Given the description of an element on the screen output the (x, y) to click on. 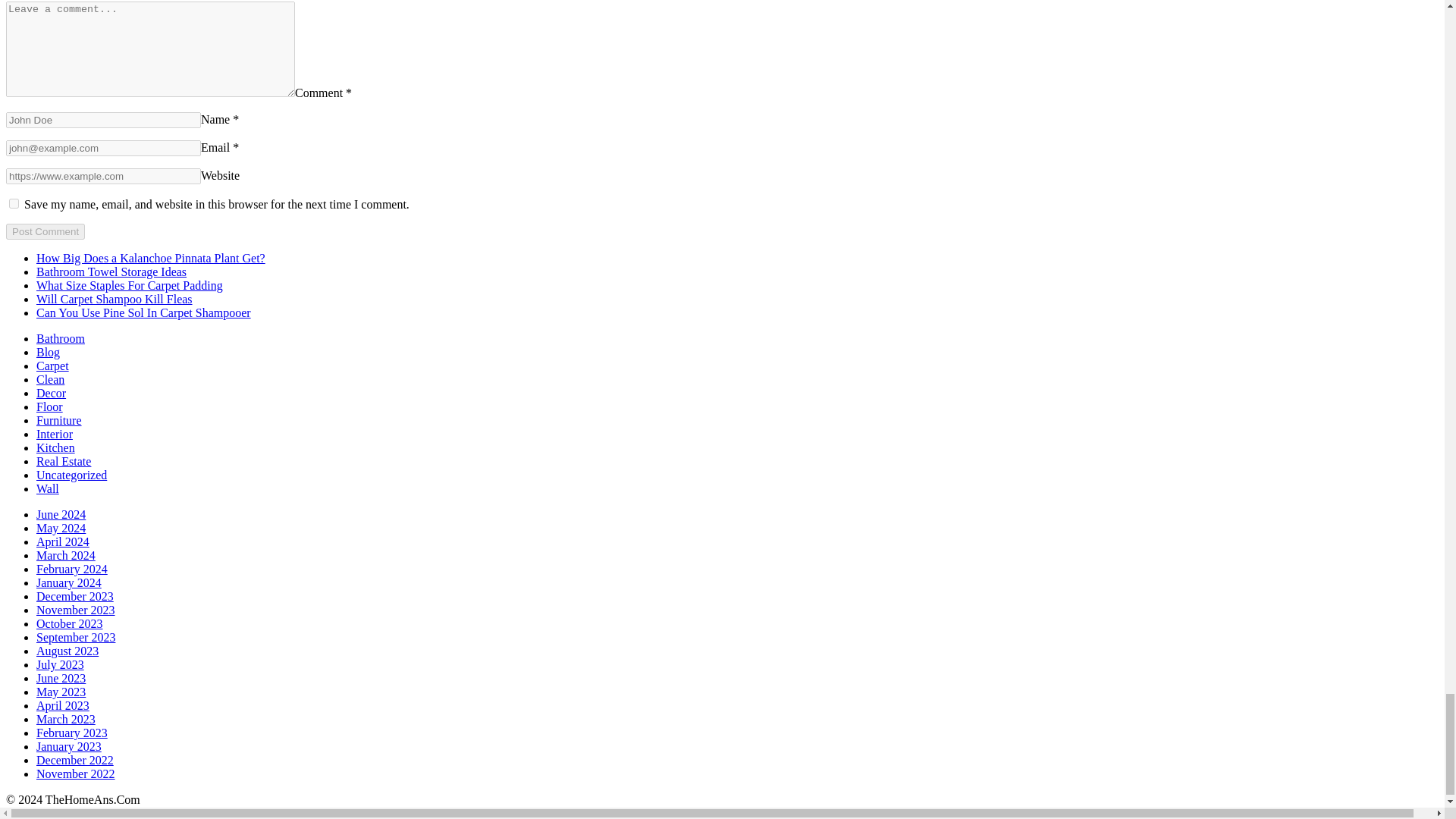
Post Comment (44, 231)
yes (13, 203)
